Given the description of an element on the screen output the (x, y) to click on. 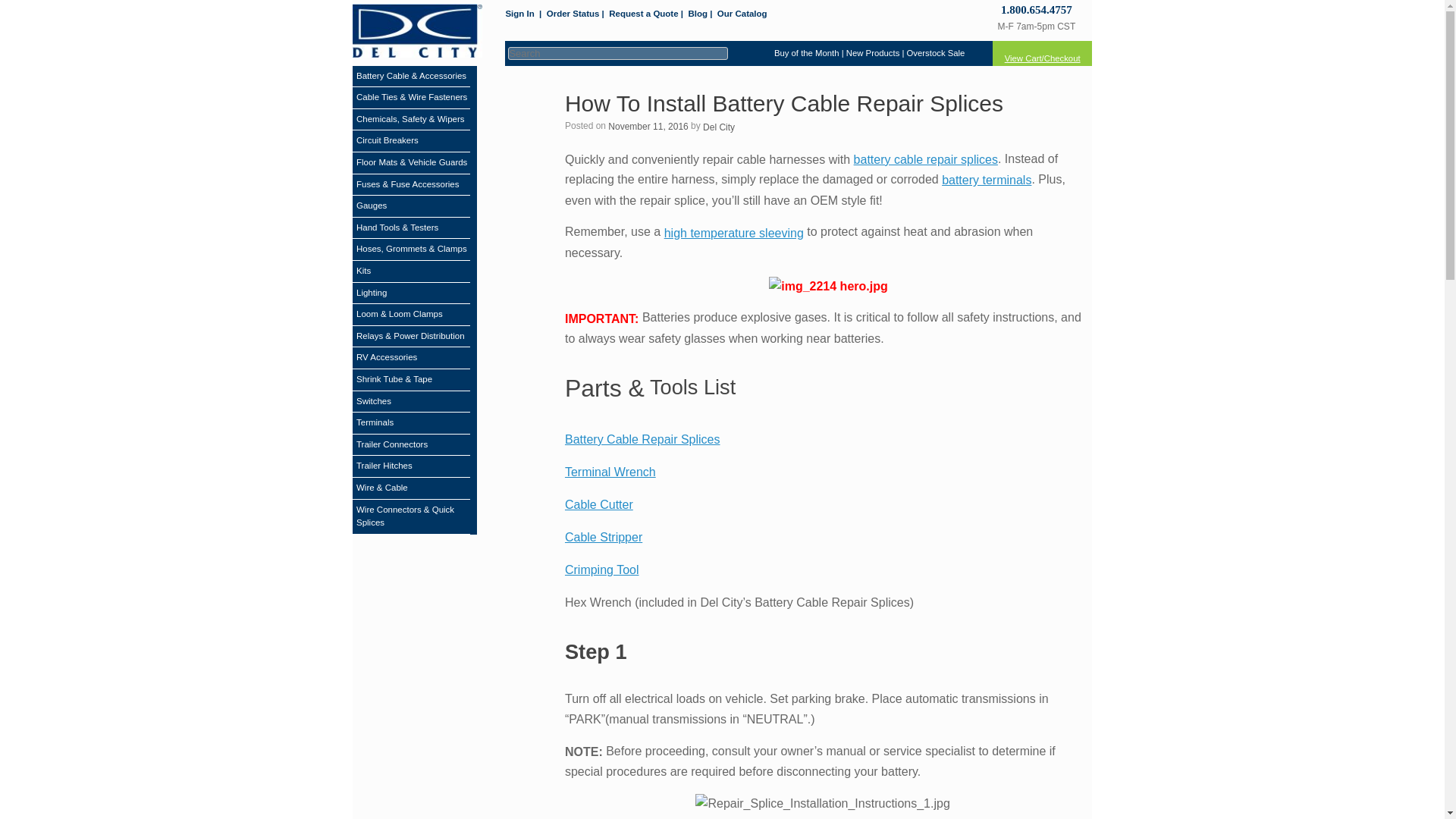
Our Catalog (742, 13)
battery terminals (986, 179)
Blog (697, 13)
Request a Quote (643, 13)
Del City (719, 127)
Battery Cable Repair Splices (642, 439)
Our Catalog (742, 13)
sign in (519, 13)
Cable Cutter (598, 504)
high temperature sleeving (733, 232)
